Given the description of an element on the screen output the (x, y) to click on. 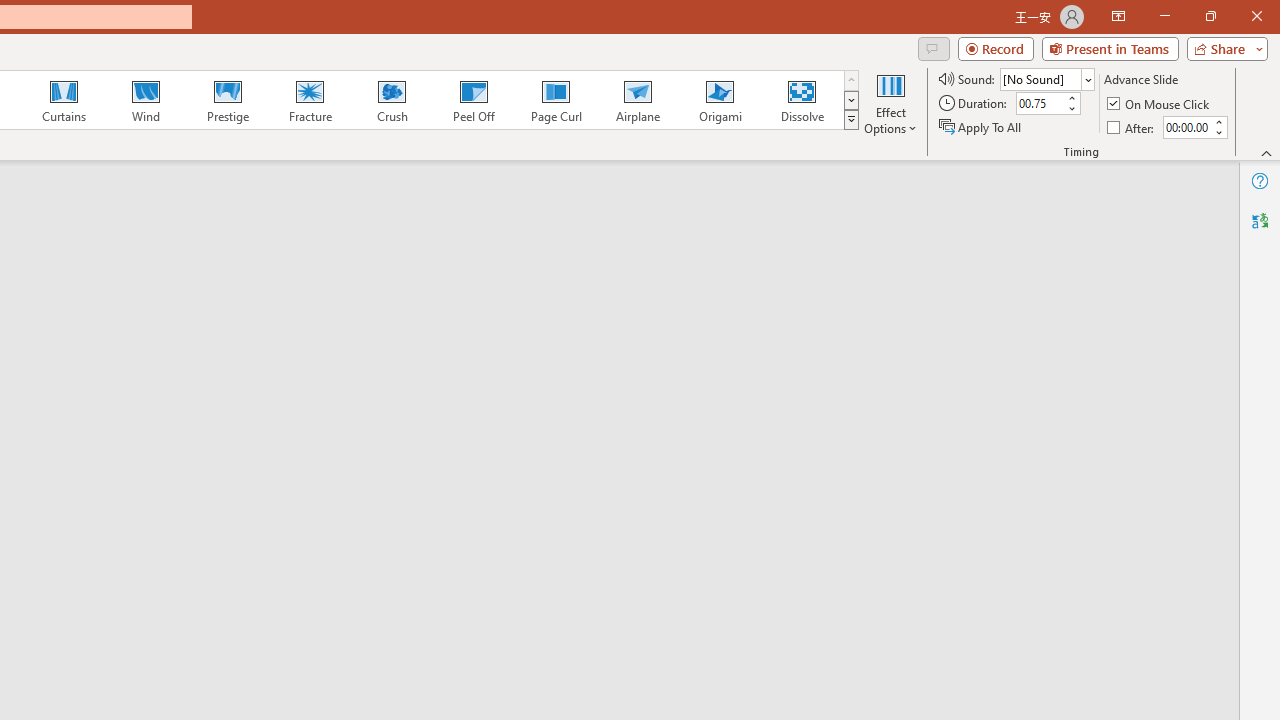
Peel Off (473, 100)
Prestige (227, 100)
After (1131, 126)
Transition Effects (850, 120)
Origami (719, 100)
Dissolve (802, 100)
Duration (1039, 103)
Apply To All (981, 126)
Wind (145, 100)
Crush (391, 100)
